Given the description of an element on the screen output the (x, y) to click on. 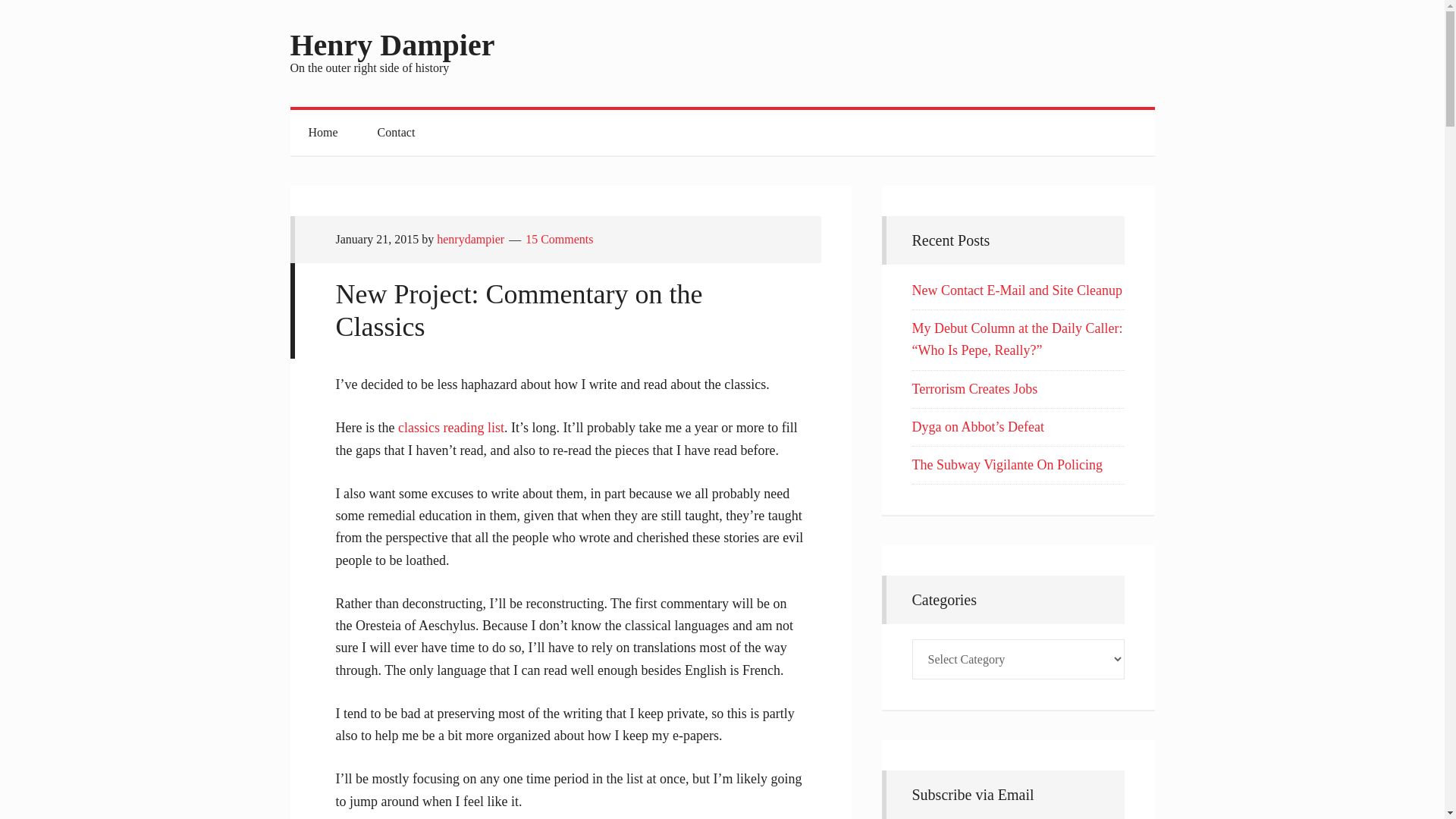
15 Comments (558, 238)
henrydampier (469, 238)
Henry Dampier (392, 44)
Home (322, 132)
classics reading list (450, 427)
Contact (396, 132)
